Given the description of an element on the screen output the (x, y) to click on. 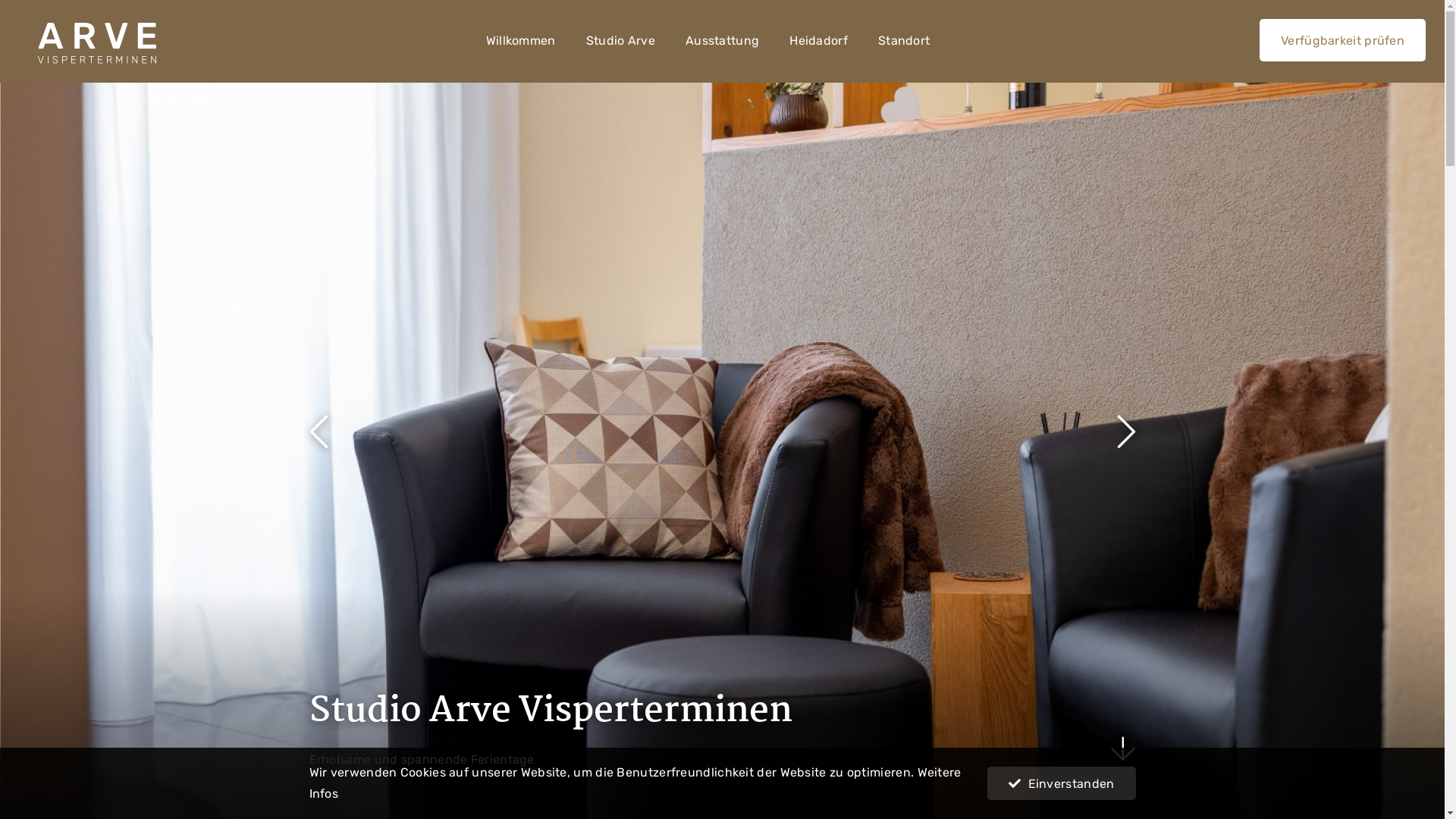
Heidadorf Element type: text (818, 40)
Standort Element type: text (903, 40)
Weitere Infos Element type: text (635, 782)
Prev Element type: text (318, 431)
Next Element type: text (1125, 431)
Ausstattung Element type: text (722, 40)
Willkommen Element type: text (520, 40)
Einverstanden Element type: text (1061, 783)
Studio Arve Element type: text (620, 40)
